Given the description of an element on the screen output the (x, y) to click on. 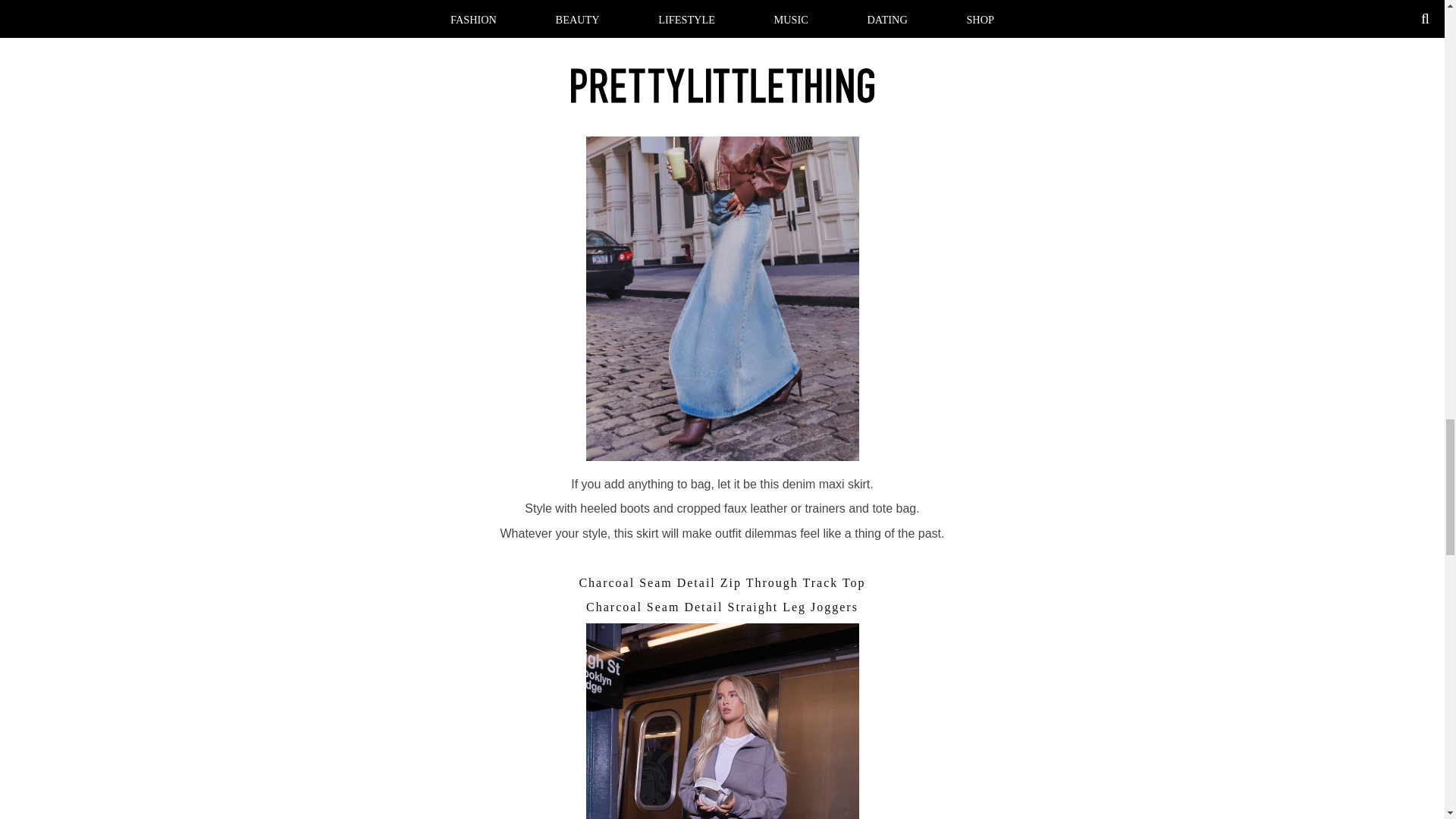
Vintage Mid Wash Split Front Denim Maxi Skirt (722, 9)
Charcoal Seam Detail Straight Leg Joggers (722, 606)
Charcoal Seam Detail Zip Through Track Top (721, 582)
